Given the description of an element on the screen output the (x, y) to click on. 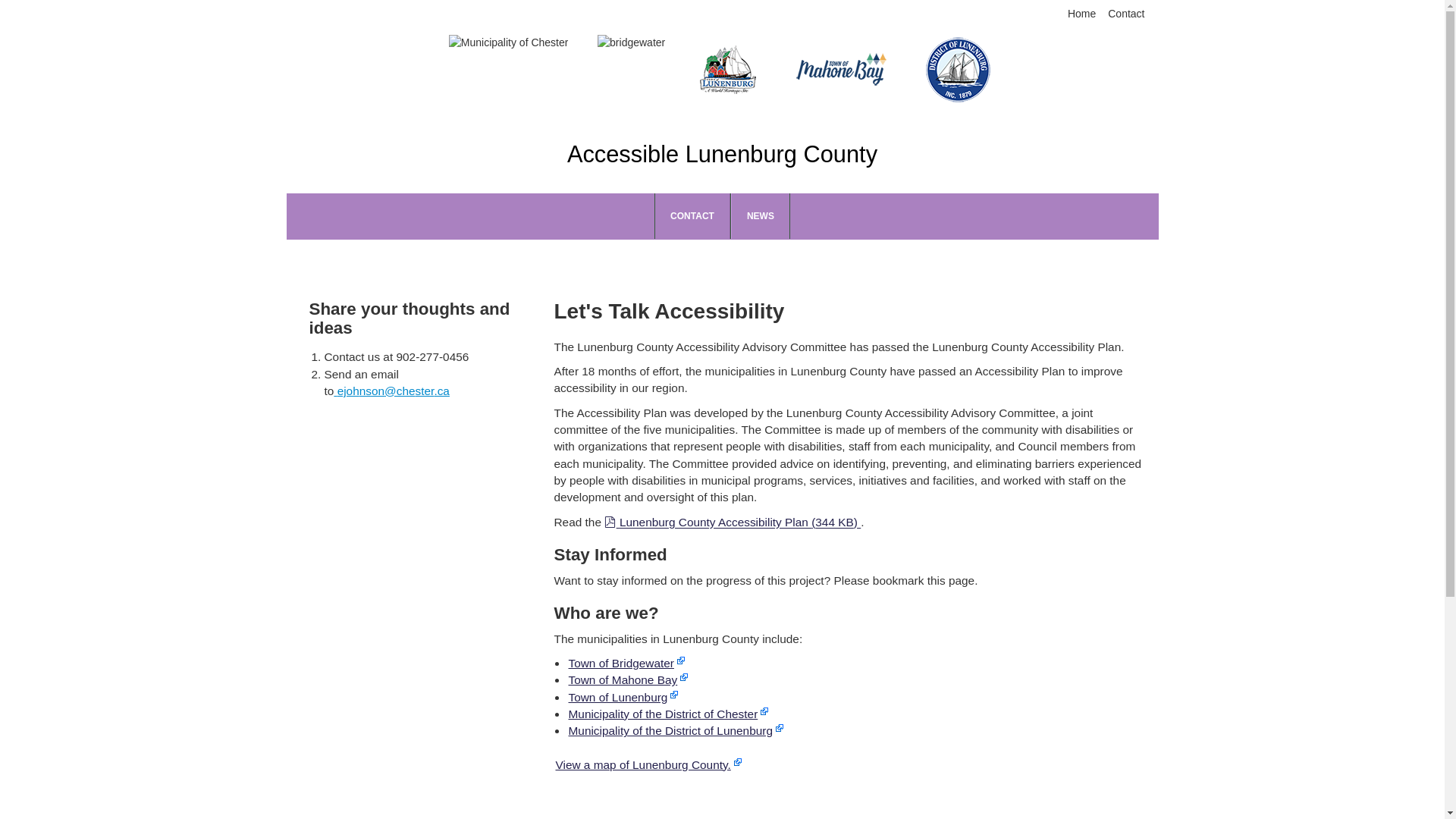
View a map of Lunenburg County. Element type: text (647, 764)
Contact Element type: text (1125, 13)
Town of Bridgewater Element type: text (626, 662)
Town of Lunenburg Element type: text (623, 696)
  Element type: text (391, 390)
skip to content Element type: text (326, 6)
Municipality of the District of Lunenburg Element type: text (675, 730)
Municipality of the District of Chester Element type: text (668, 713)
Home Element type: text (1081, 13)
Town of Mahone Bay Element type: text (628, 679)
pdf
Lunenburg County Accessibility Plan (344 KB) Element type: text (732, 521)
NEWS Element type: text (760, 215)
Accessible Lunenburg County Element type: text (722, 155)
CONTACT Element type: text (692, 215)
